Given the description of an element on the screen output the (x, y) to click on. 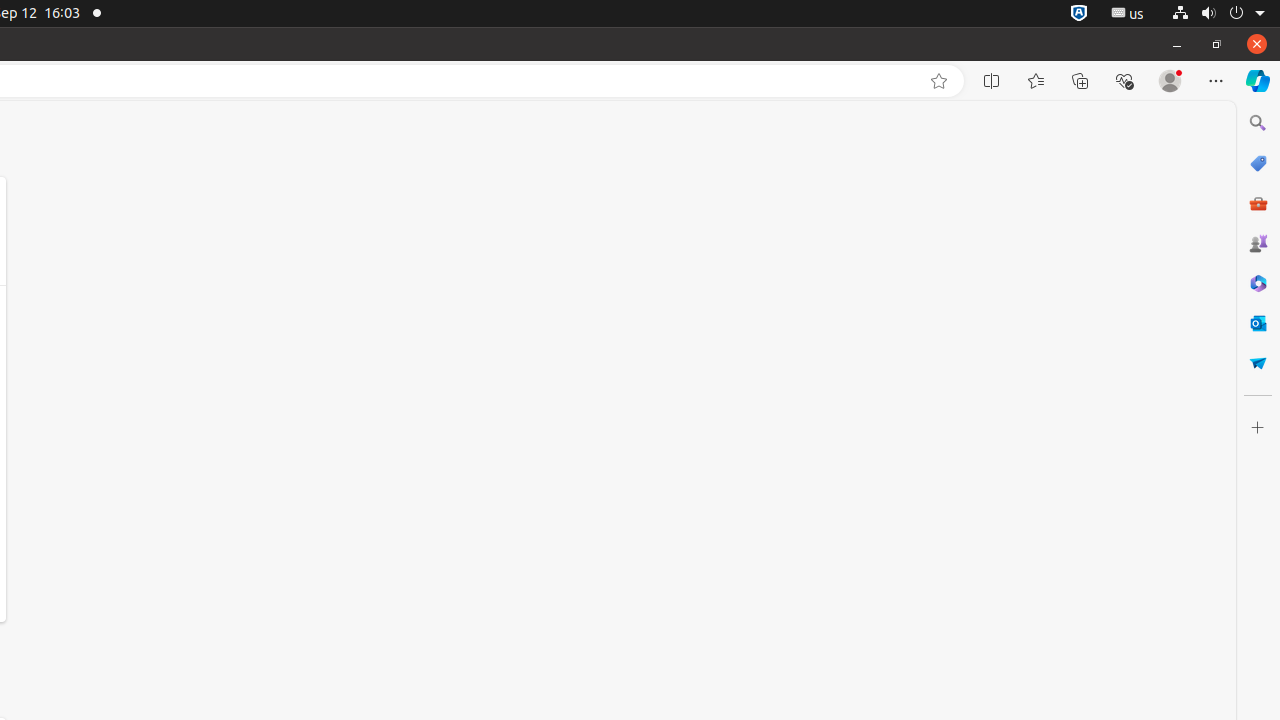
Games Element type: push-button (1258, 243)
System Element type: menu (1218, 13)
Split screen Element type: push-button (992, 81)
Drop Element type: push-button (1258, 363)
